Given the description of an element on the screen output the (x, y) to click on. 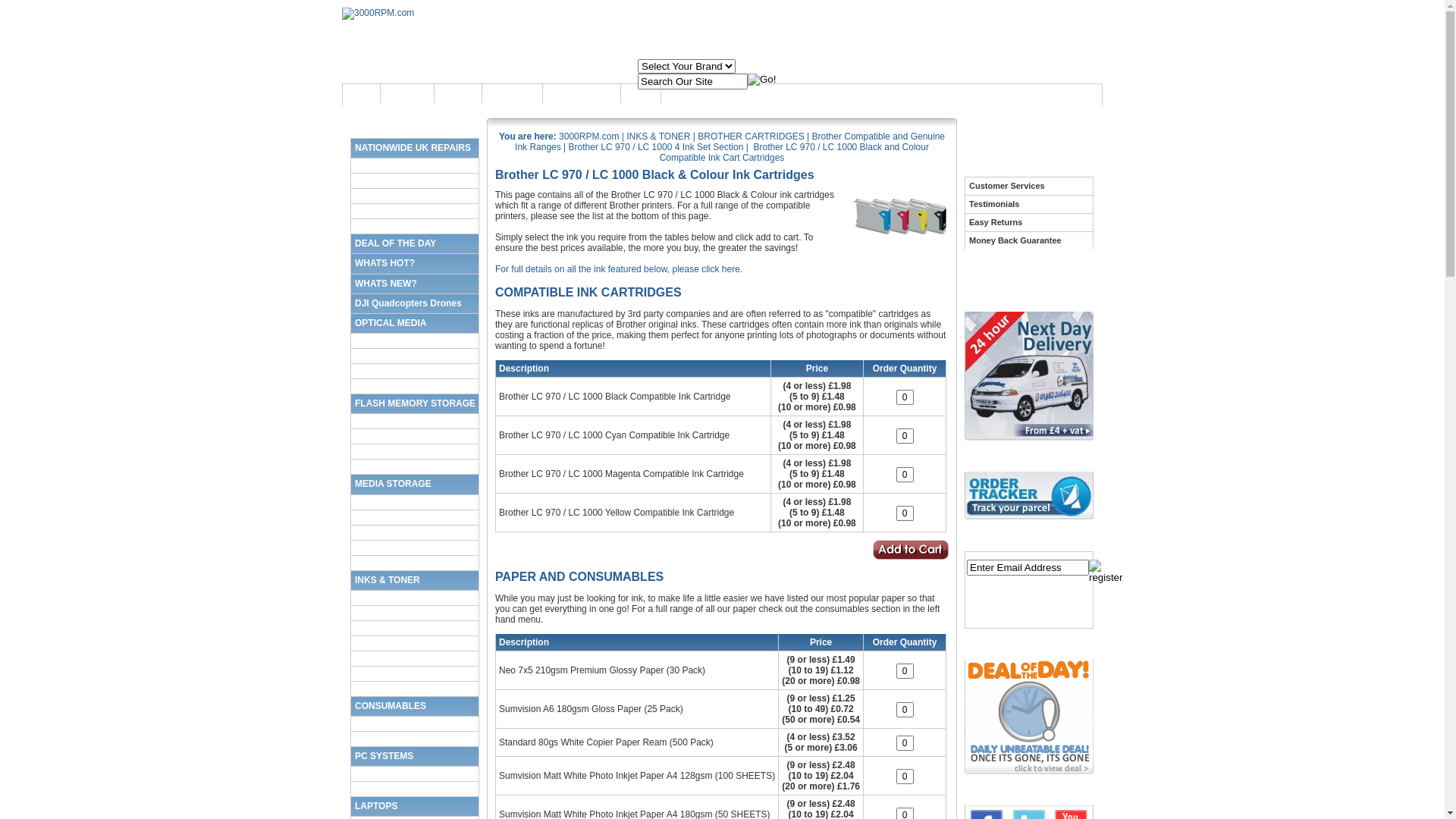
INKS & TONER Element type: text (414, 579)
BROTHER CARTRIDGES Element type: text (750, 136)
Delivery Element type: hover (1028, 375)
CONSOLE REPAIRS Element type: text (414, 195)
LAPTOPS Element type: text (414, 805)
Delivery Prices Element type: text (581, 93)
SECURE DIGITAL MICRO Element type: text (414, 435)
LAPTOP REPAIRS Element type: text (414, 180)
3000RPM.com Element type: text (588, 136)
0 item(s) totalling 0 Element type: text (1001, 73)
CD JEWEL CASES Element type: text (414, 501)
Support Element type: text (458, 93)
Testimonials Element type: text (1028, 203)
3000RPM LTD 3000RPM.com Element type: hover (378, 13)
Contact Us Element type: text (512, 93)
TABLET REPAIRS Element type: text (414, 210)
KODAK CARTRIDGES Element type: text (414, 672)
Order Tracker Element type: hover (1028, 495)
LABELS Element type: text (414, 738)
MEMORY CARD READERS Element type: text (414, 465)
DEAL OF THE DAY Element type: text (414, 243)
FLASH MEMORY STORAGE Element type: text (414, 403)
CONTINUOUS INK SYSTEM Element type: text (414, 688)
Log In Element type: text (641, 93)
USB FLASH DRIVES Element type: text (414, 450)
MOBILE PHONE REPAIRS Element type: text (414, 225)
DJ FLIGHT CASES Element type: text (414, 547)
Brother LC 970 / LC 1000 4 Ink Set Section Element type: text (655, 146)
OTHER STORAGE & PENS Element type: text (414, 562)
Deal of the Day Element type: hover (1028, 716)
CANON CARTRIDGES Element type: text (414, 612)
3000RPM SYSTEMS Element type: text (414, 773)
WHATS HOT? Element type: text (414, 263)
NATIONWIDE UK REPAIRS Element type: text (414, 147)
PAPER Element type: text (414, 723)
OPTICAL MEDIA Element type: text (414, 322)
Home Element type: text (361, 93)
WHATS NEW? Element type: text (414, 283)
Customer Services Element type: text (1028, 185)
DJI Quadcopters Drones Element type: text (414, 303)
Easy Returns Element type: text (1028, 222)
HP CARTRIDGES Element type: text (414, 642)
MEDIA STORAGE Element type: text (414, 483)
BLU-RAY Element type: text (414, 385)
CONSUMABLES Element type: text (414, 705)
LEXMARK CARTRIDGES Element type: text (414, 627)
DVD CASES Element type: text (414, 516)
DVDR MEDIA Element type: text (414, 355)
DVD+DL (DUAL LAYER) Element type: text (414, 370)
About Us Element type: text (406, 93)
UPGRADE BUNDLES Element type: text (414, 788)
CD / DVD CARRY CASES Element type: text (414, 531)
BROTHER CARTRIDGES Element type: text (414, 657)
EPSON CARTRIDGES Element type: text (414, 597)
Money Back Guarantee Element type: text (1028, 240)
INKS & TONER Element type: text (658, 136)
PC REPAIRS Element type: text (414, 164)
CDR MEDIA Element type: text (414, 340)
Brother LC 970 / LC 1000 Black & Colour Ink Cartridges Element type: hover (898, 215)
SECURE DIGITAL Element type: text (414, 420)
PC SYSTEMS Element type: text (414, 755)
Brother Compatible and Genuine Ink Ranges Element type: text (729, 141)
